Given the description of an element on the screen output the (x, y) to click on. 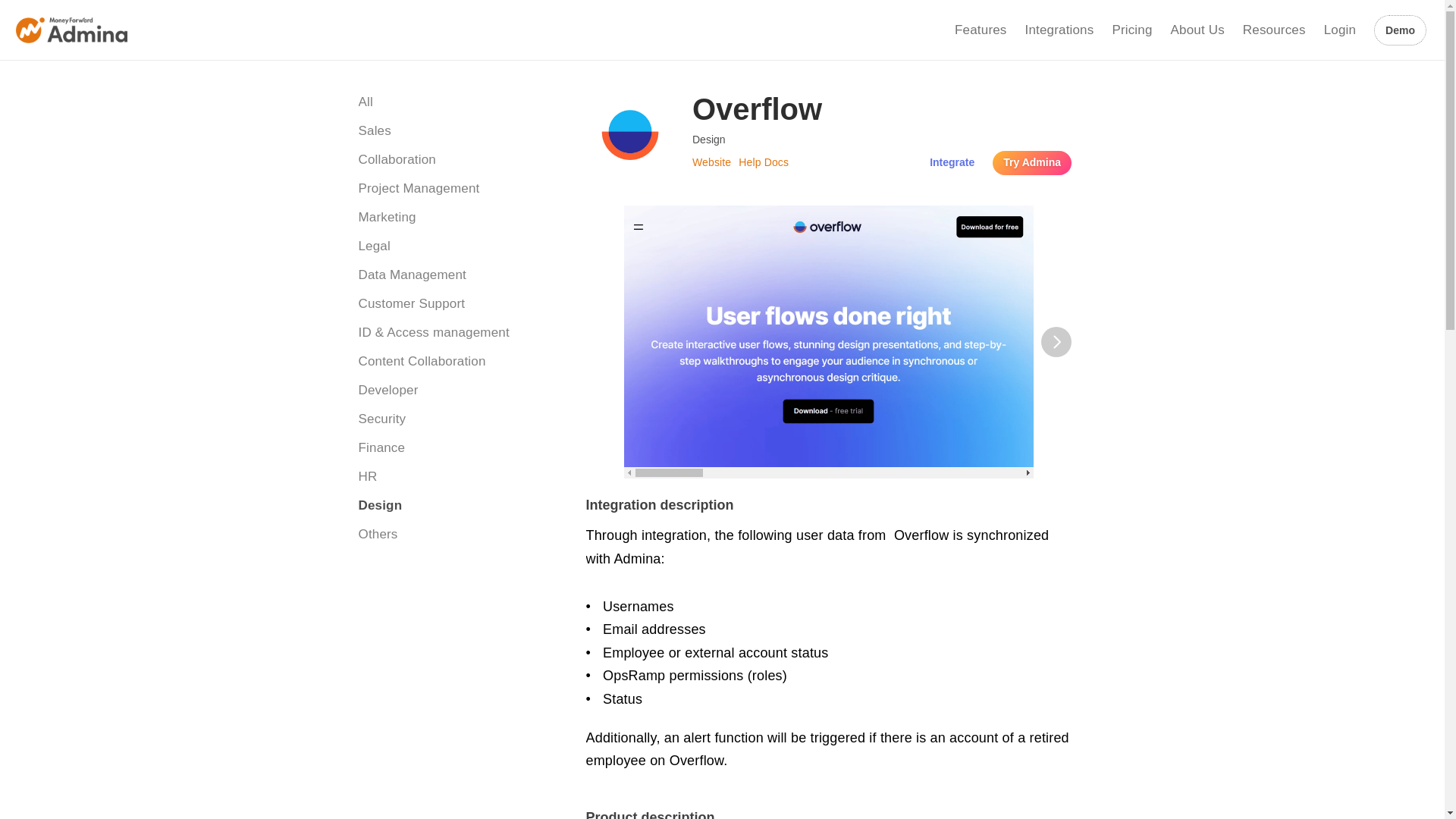
Developer (456, 390)
Legal (456, 246)
Resources (1274, 29)
Marketing (456, 217)
About Us (1197, 29)
Login (1339, 29)
Integrations (1059, 29)
Integrate (951, 162)
Content Collaboration (456, 361)
Sales (456, 130)
Data Management (456, 274)
Others (456, 534)
Project Management (456, 188)
Try Admina (1031, 162)
All (456, 101)
